Given the description of an element on the screen output the (x, y) to click on. 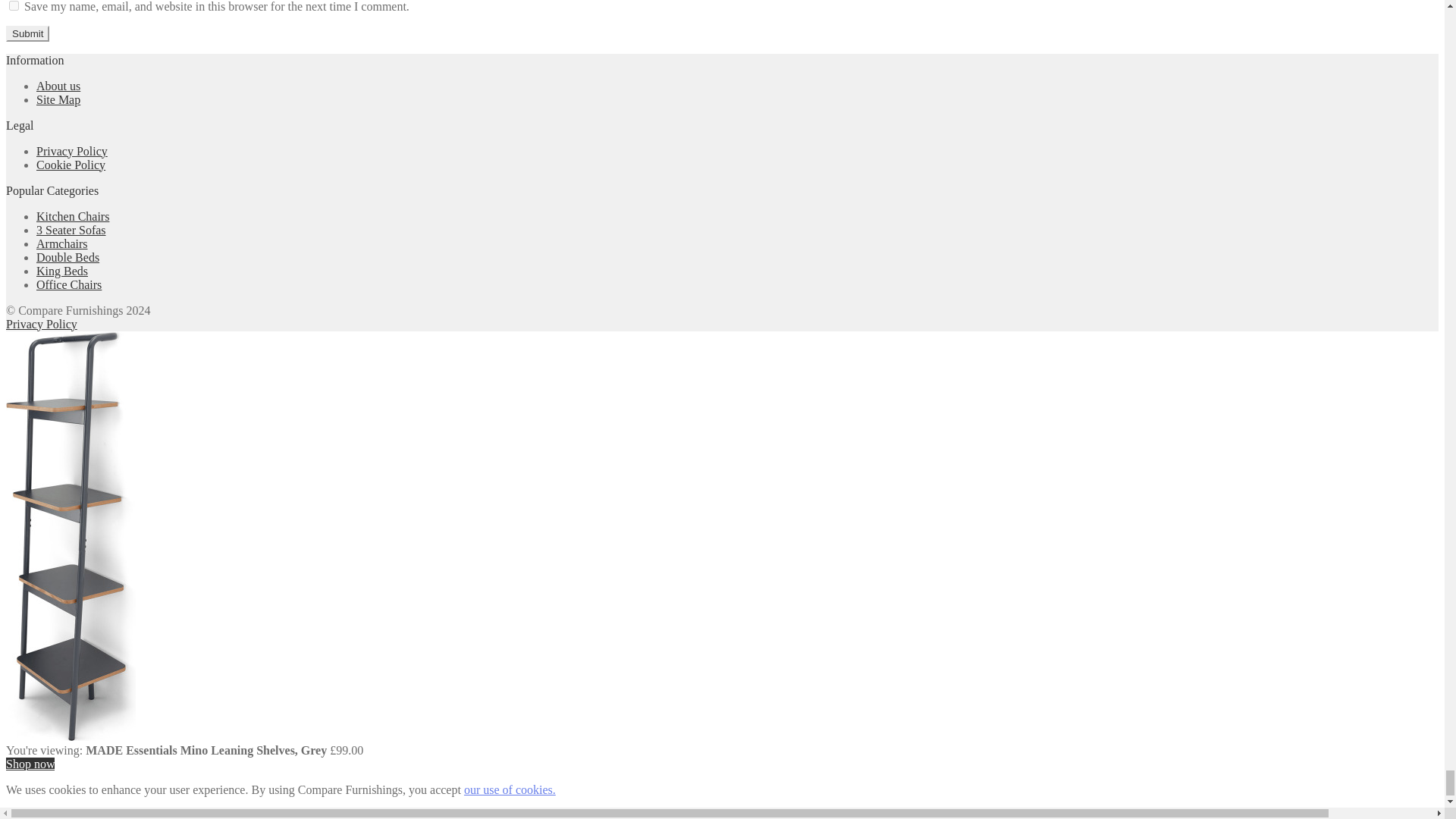
yes (13, 5)
Submit (27, 33)
